Given the description of an element on the screen output the (x, y) to click on. 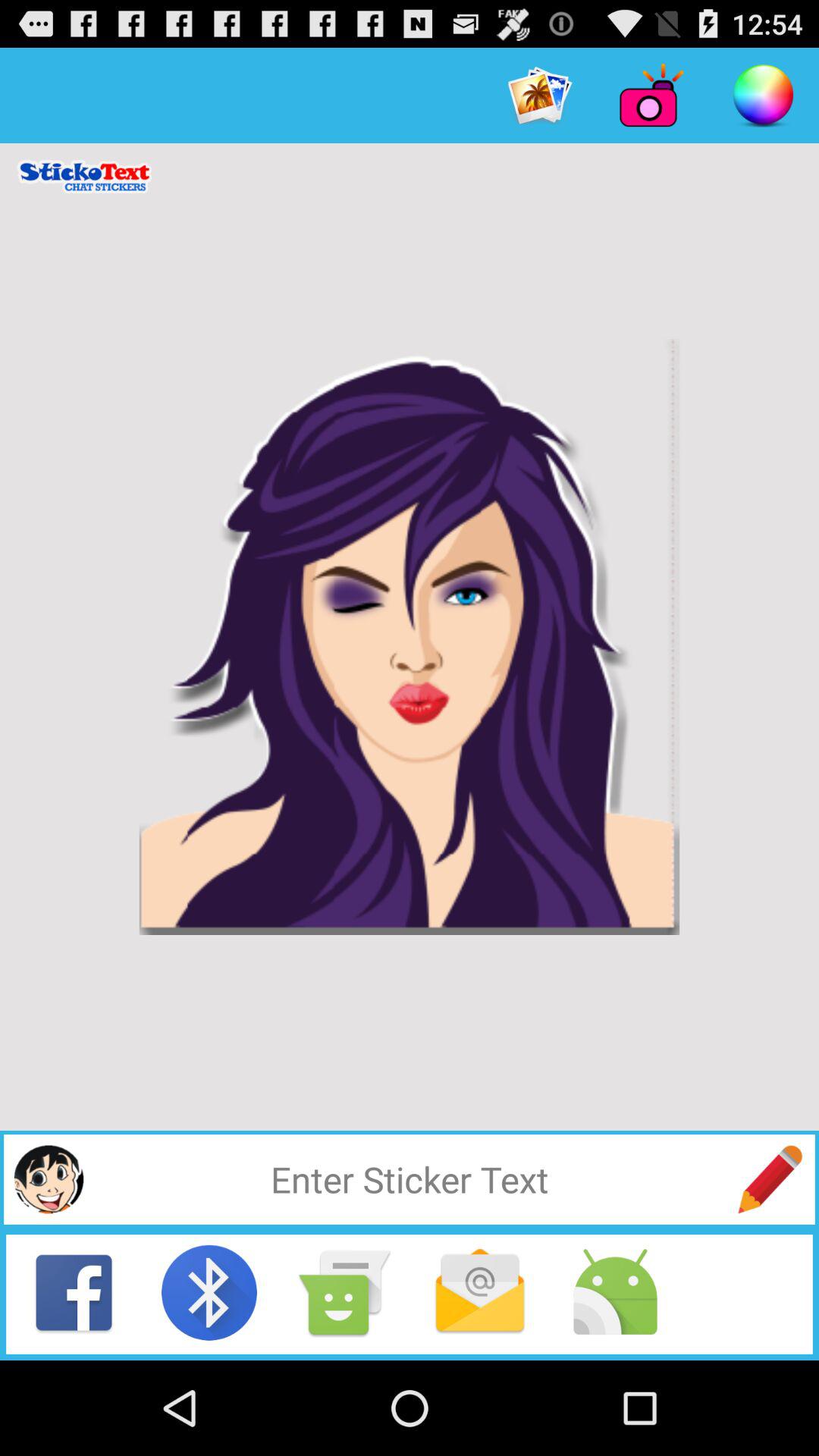
send sticker text (770, 1179)
